Given the description of an element on the screen output the (x, y) to click on. 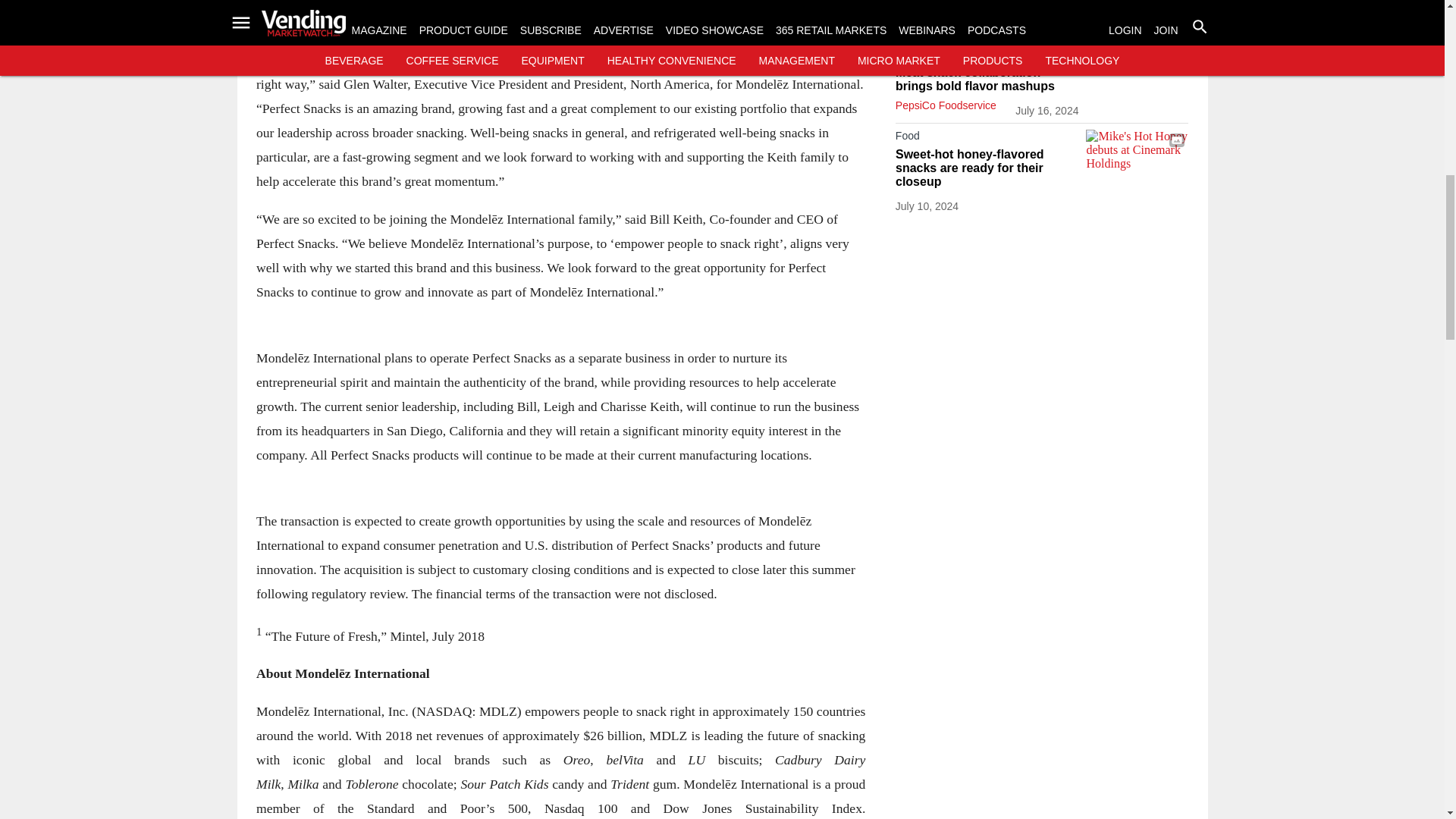
doritos jack links (1137, 75)
Mike's Hot Honey debuts at Cinemark Holdings (1137, 157)
